Given the description of an element on the screen output the (x, y) to click on. 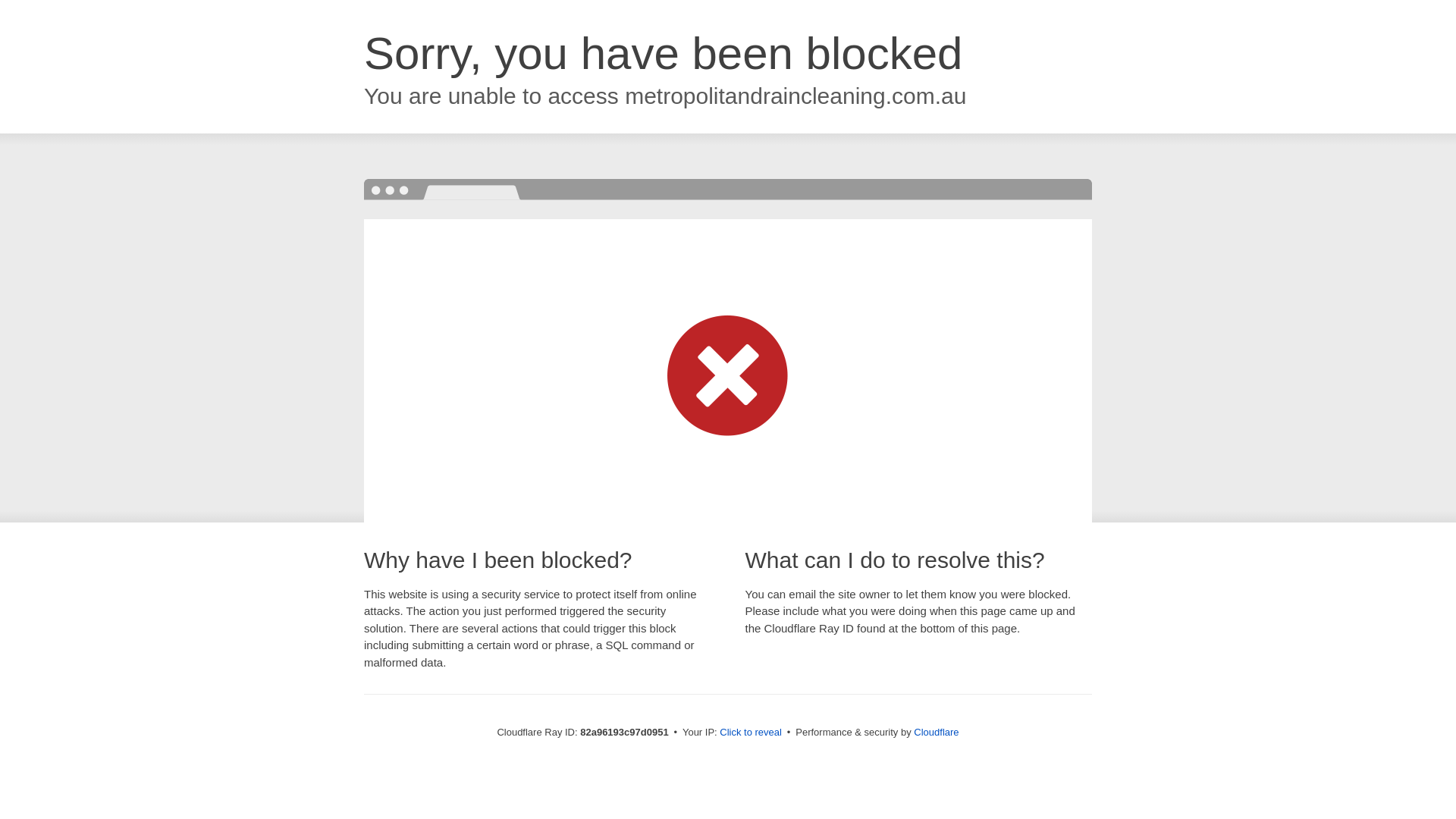
Cloudflare Element type: text (935, 731)
Click to reveal Element type: text (750, 732)
